Given the description of an element on the screen output the (x, y) to click on. 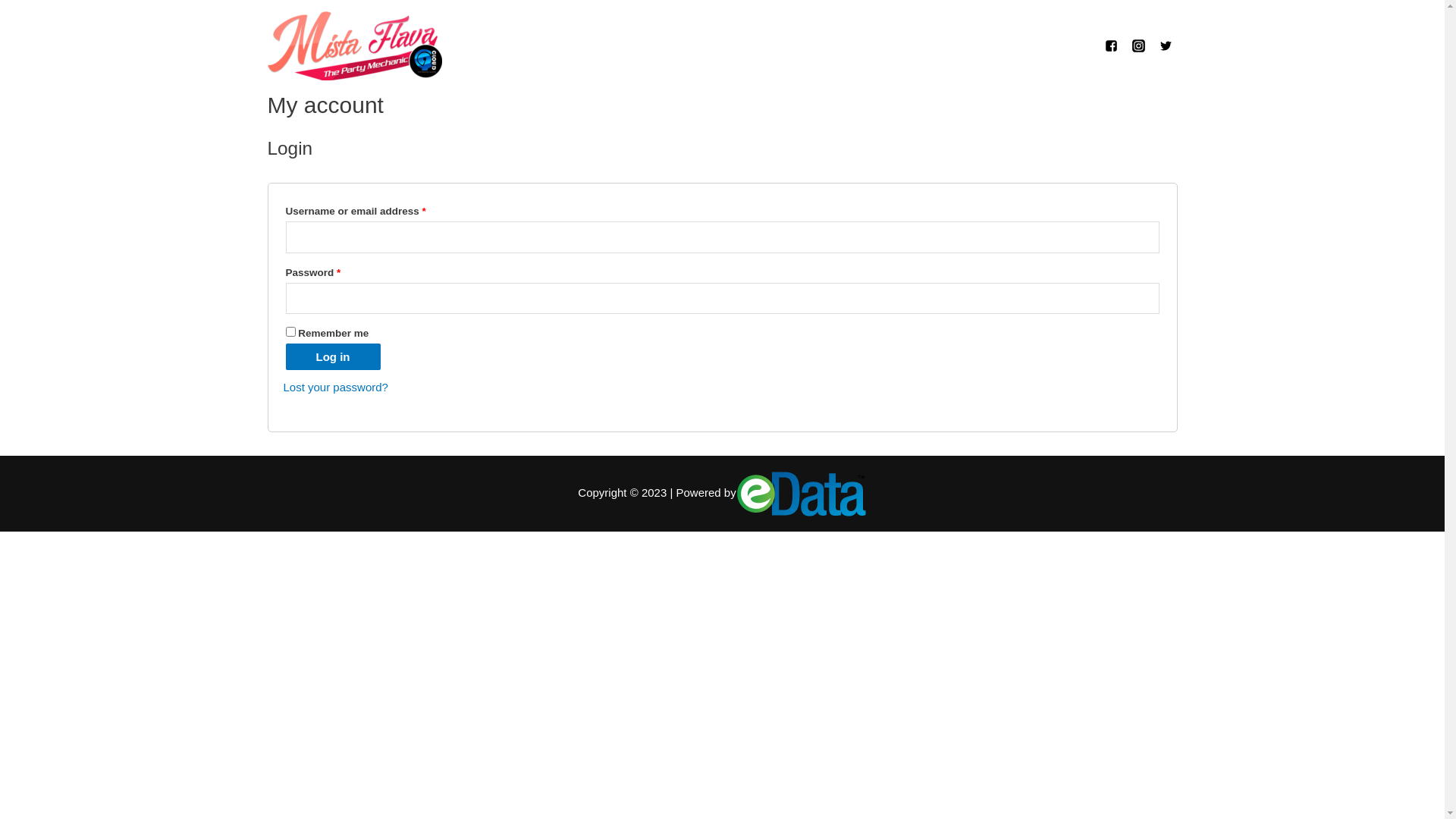
Services/Merch Element type: text (671, 45)
Biography Element type: text (539, 45)
Log in Element type: text (332, 356)
Contact Element type: text (960, 45)
Lost your password? Element type: text (335, 386)
Music Element type: text (787, 45)
Videos Element type: text (870, 45)
